Given the description of an element on the screen output the (x, y) to click on. 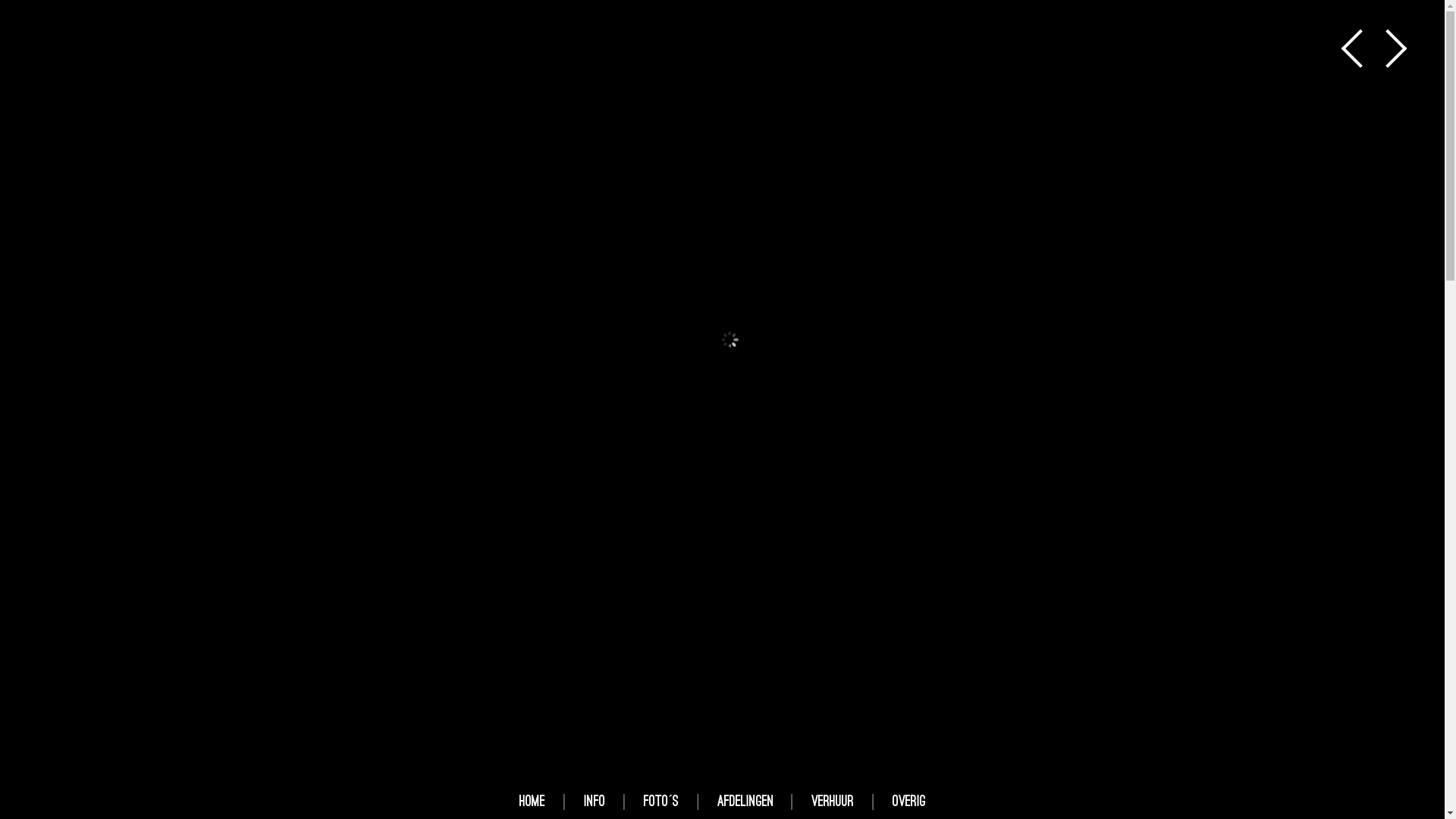
VERHUUR Element type: text (832, 800)
INFO Element type: text (594, 800)
HOME Element type: text (531, 800)
AFDELINGEN Element type: text (745, 800)
OVERIG Element type: text (909, 800)
